Given the description of an element on the screen output the (x, y) to click on. 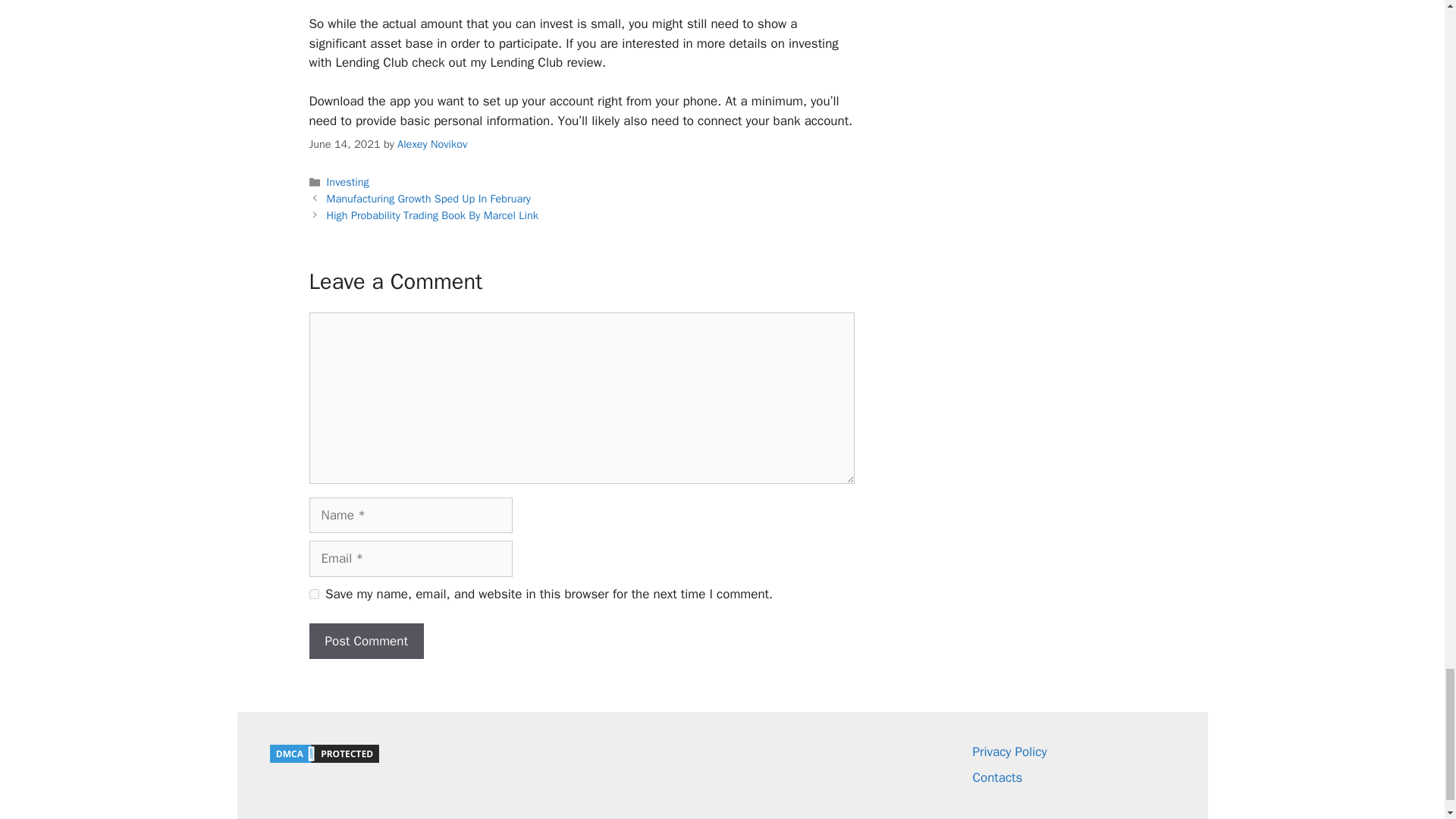
DMCA.com Protection Status (323, 760)
Privacy Policy (1009, 751)
Next (432, 214)
Manufacturing Growth Sped Up In February (428, 198)
Previous (428, 198)
Post Comment (365, 641)
Contacts (997, 777)
yes (313, 593)
High Probability Trading Book By Marcel Link (432, 214)
Post Comment (365, 641)
Alexey Novikov (432, 143)
View all posts by Alexey Novikov (432, 143)
Investing (347, 182)
